Given the description of an element on the screen output the (x, y) to click on. 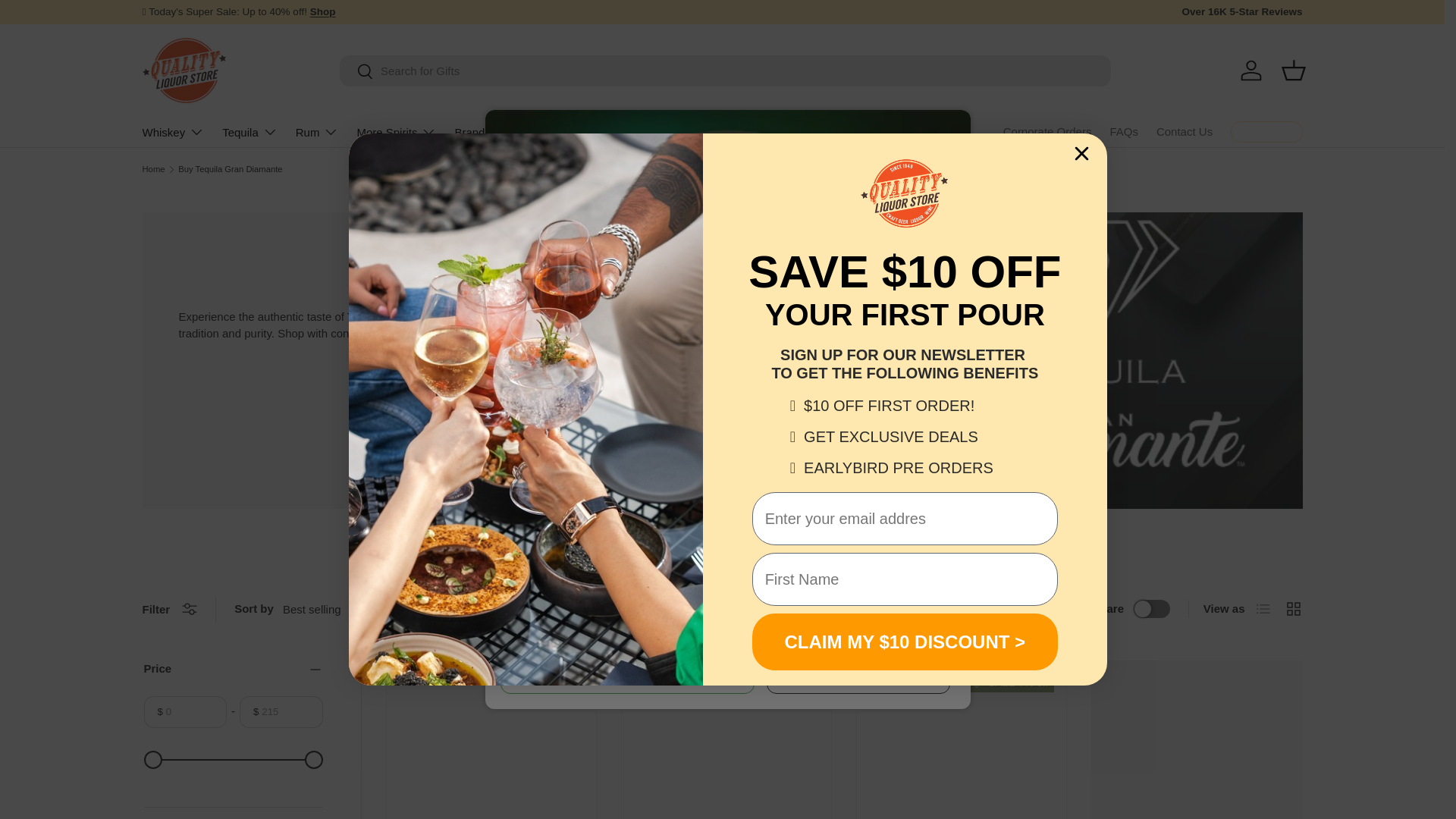
SKIP TO CONTENT (68, 21)
More Spirits (395, 132)
Whiskey (173, 132)
Basket (1293, 70)
Rum (317, 132)
Tequila (250, 132)
Log in (1251, 70)
Search (356, 72)
Shop (323, 11)
SALE (323, 11)
Over 16K 5-Star Reviews (1240, 11)
0 (233, 759)
215 (233, 759)
